Given the description of an element on the screen output the (x, y) to click on. 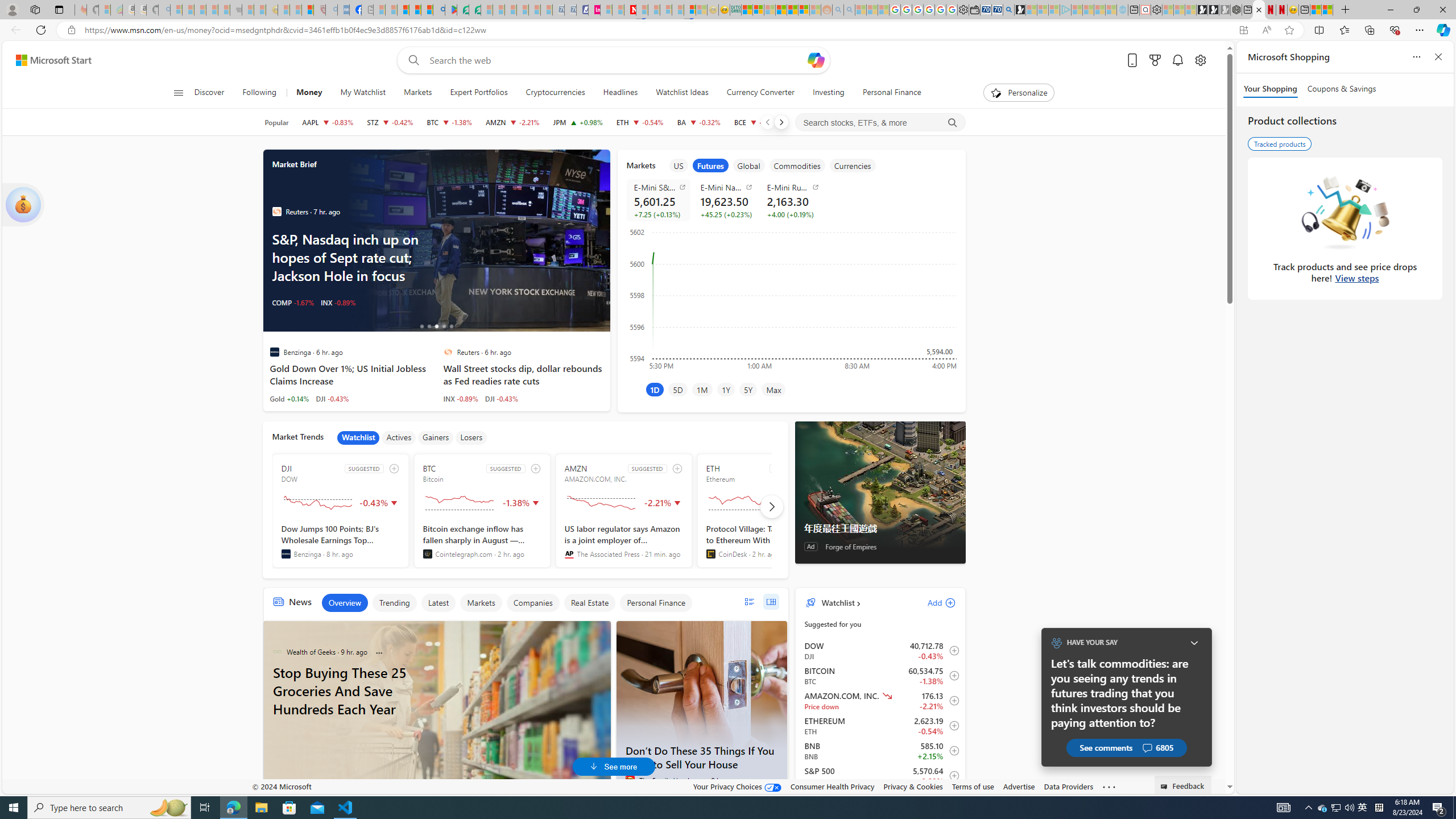
Investing (828, 92)
Markets (481, 602)
Wildlife - MSN (1315, 9)
App available. Install Start Money (1243, 29)
grid layout (770, 601)
Currency Converter (760, 92)
